Given the description of an element on the screen output the (x, y) to click on. 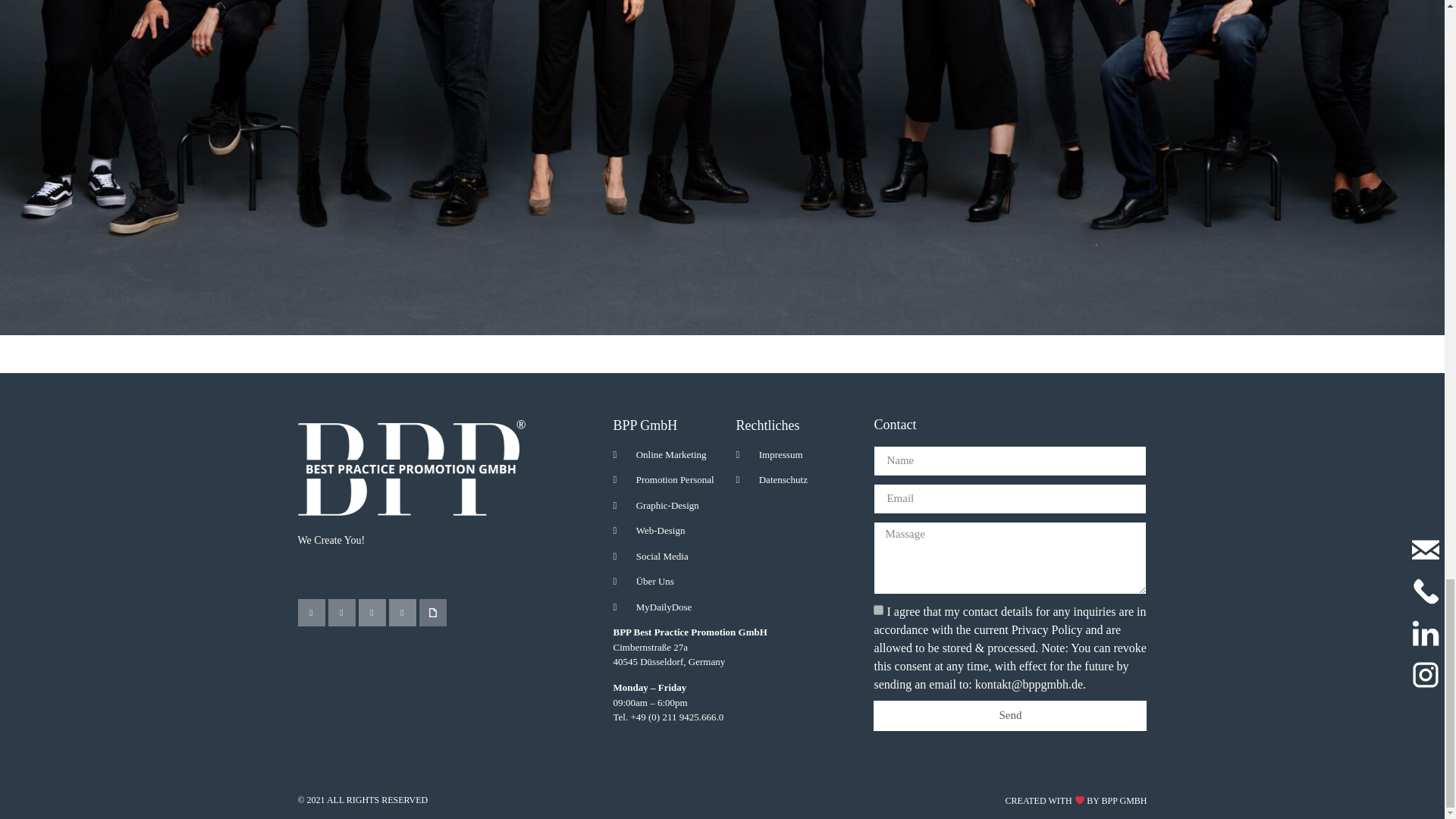
Graphic-Design (673, 505)
Social Media (673, 556)
Promotion Personal (673, 479)
Impressum (797, 454)
Web-Design (673, 530)
Online Marketing (673, 454)
on (878, 610)
MyDailyDose (673, 607)
Datenschutz (797, 479)
